Given the description of an element on the screen output the (x, y) to click on. 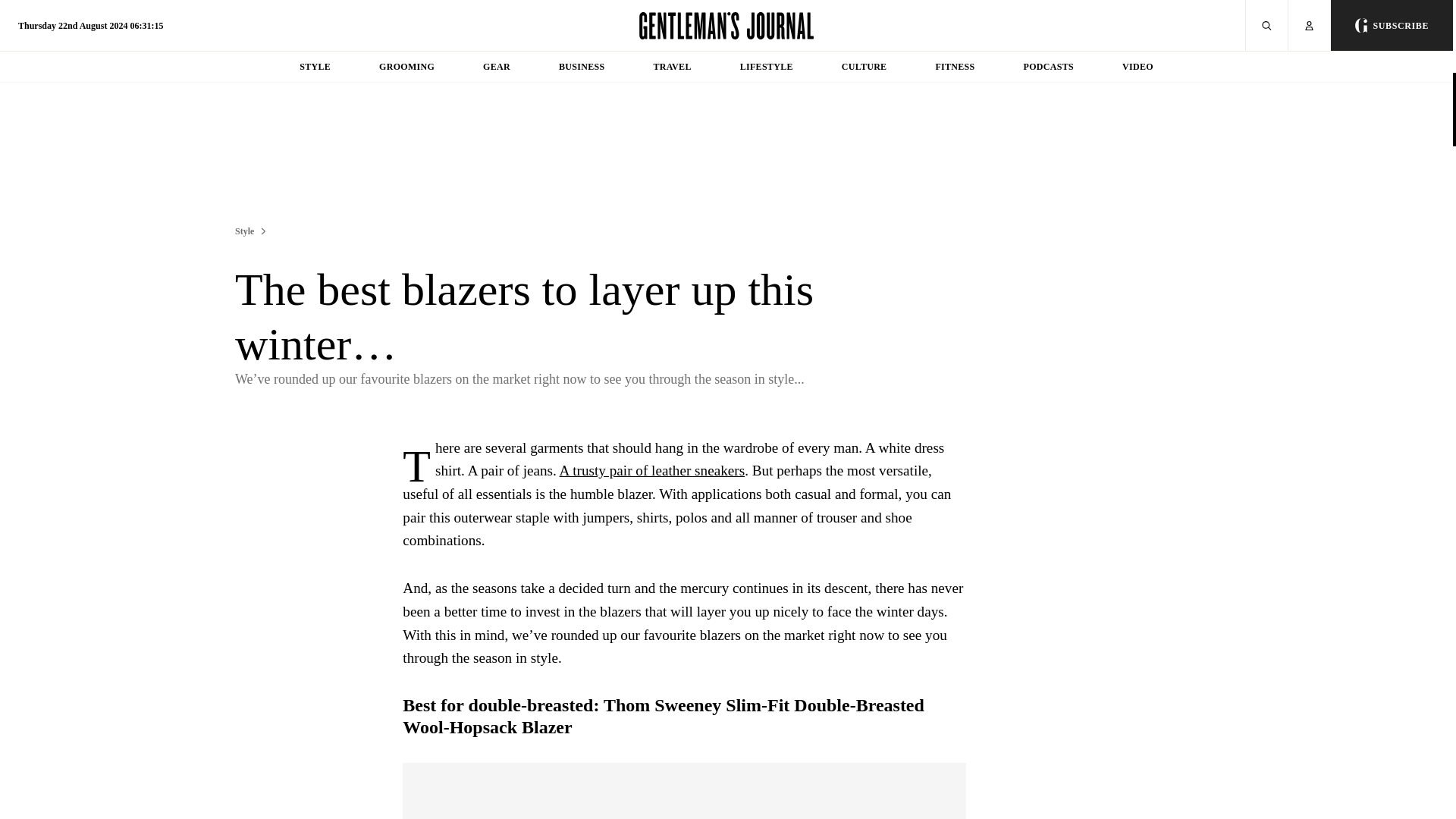
A trusty pair of leather sneakers (652, 470)
Style (243, 231)
